Given the description of an element on the screen output the (x, y) to click on. 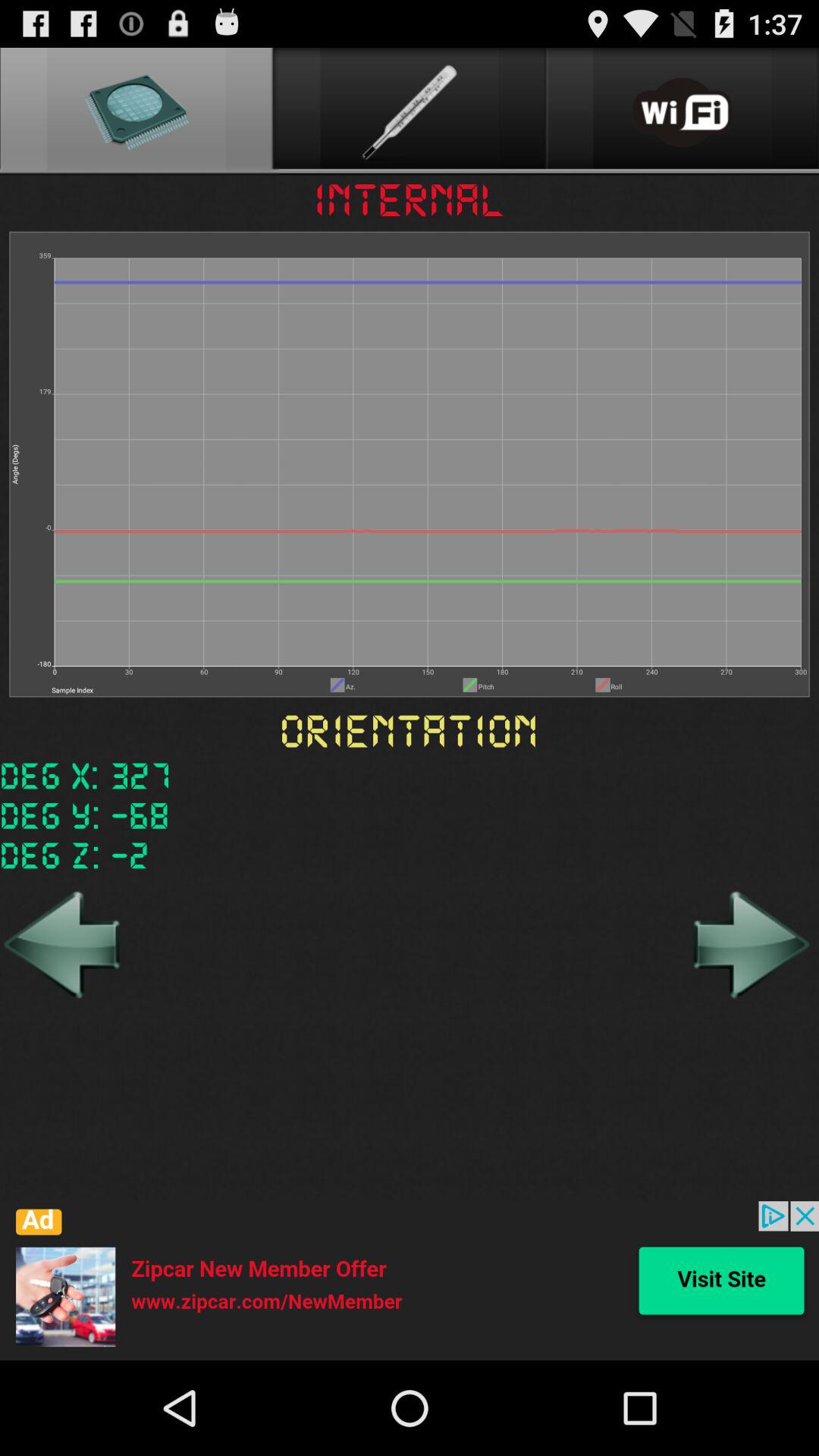
forward arrow (749, 944)
